Given the description of an element on the screen output the (x, y) to click on. 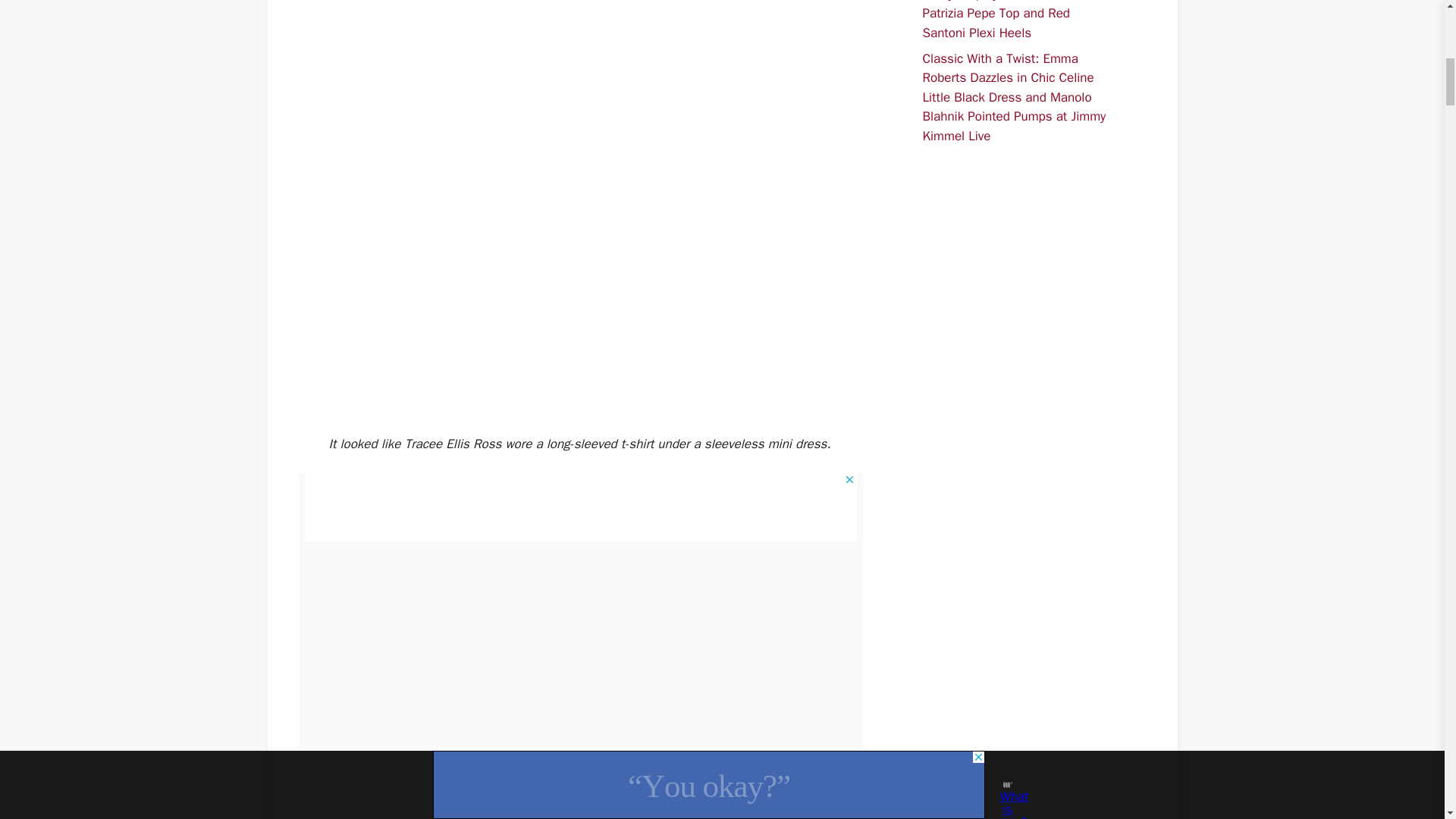
3rd party ad content (579, 507)
Scroll back to top (1406, 636)
3rd party ad content (1018, 361)
